Given the description of an element on the screen output the (x, y) to click on. 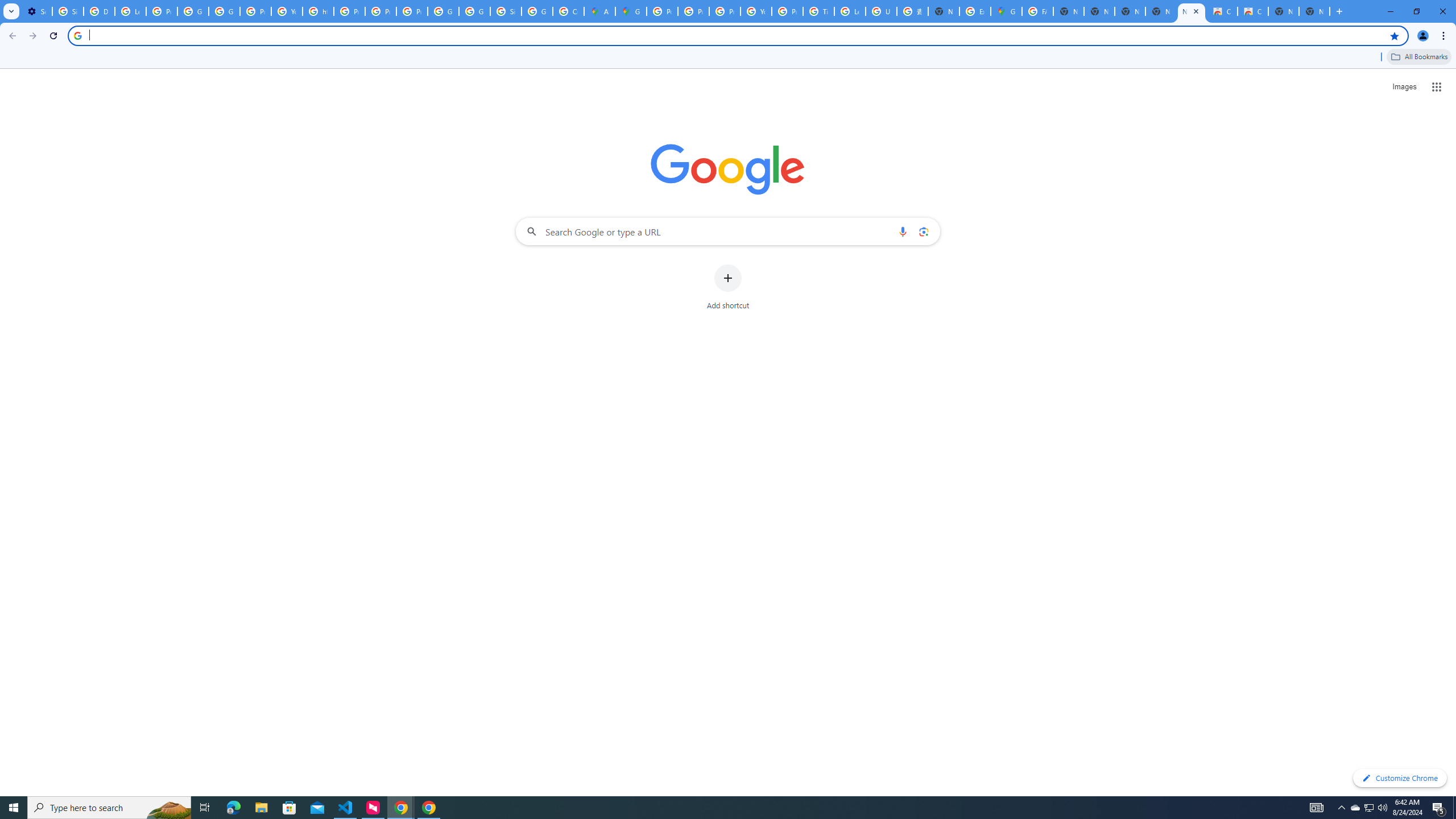
Privacy Help Center - Policies Help (693, 11)
YouTube (756, 11)
Settings - On startup (36, 11)
